Given the description of an element on the screen output the (x, y) to click on. 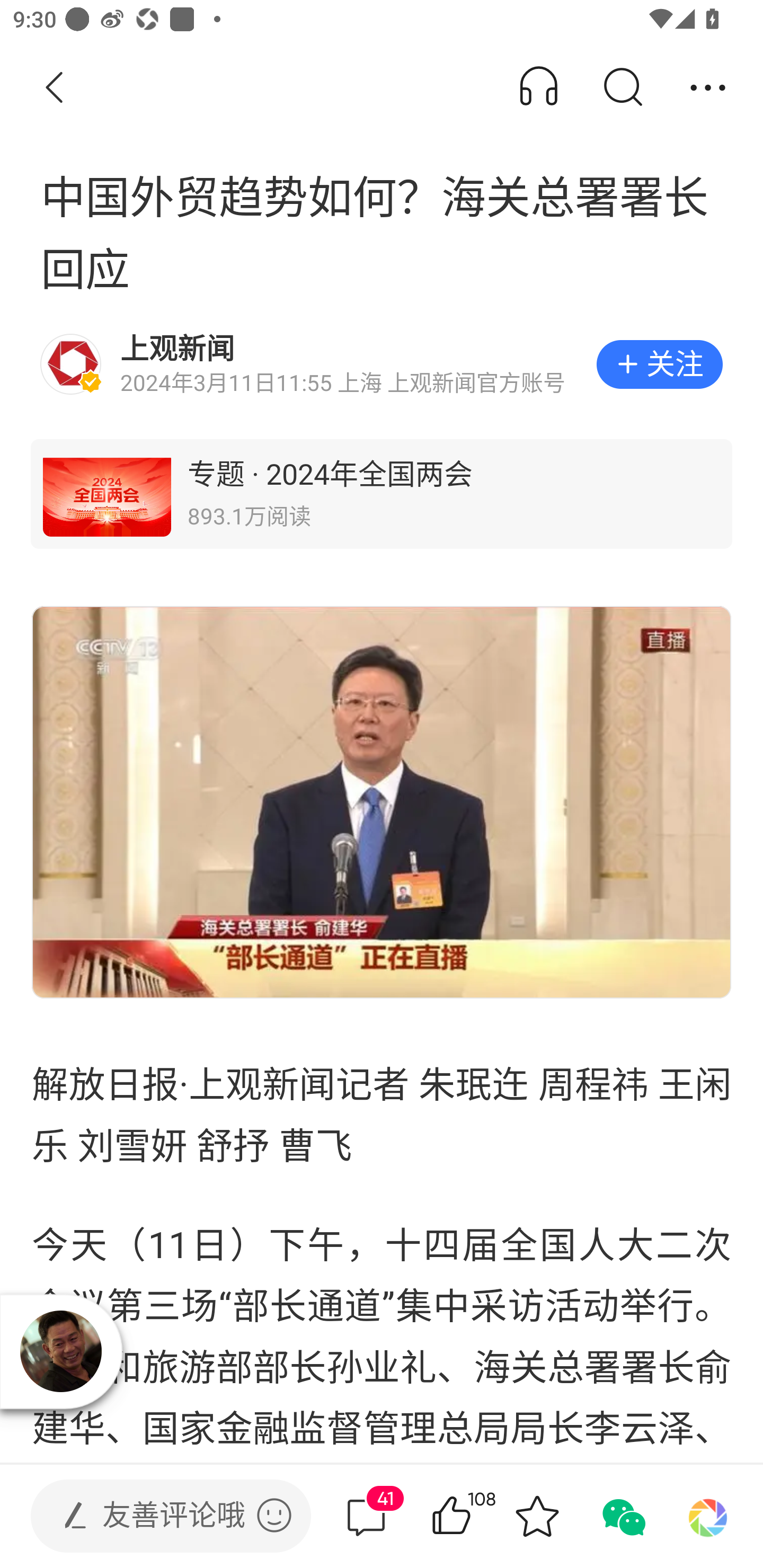
搜索  (622, 87)
分享  (707, 87)
 返回 (54, 87)
上观新闻 2024年3月11日11:55 上海 上观新闻官方账号  关注 (381, 364)
 关注 (659, 364)
专题 ·  2024年全国两会 893.1万阅读 (381, 493)
新闻图片 (381, 801)
播放器 (60, 1350)
发表评论  友善评论哦 发表评论  (155, 1516)
41评论  41 评论 (365, 1516)
108赞 (476, 1516)
收藏  (536, 1516)
分享到微信  (622, 1516)
分享到朋友圈 (707, 1516)
 (274, 1515)
